Given the description of an element on the screen output the (x, y) to click on. 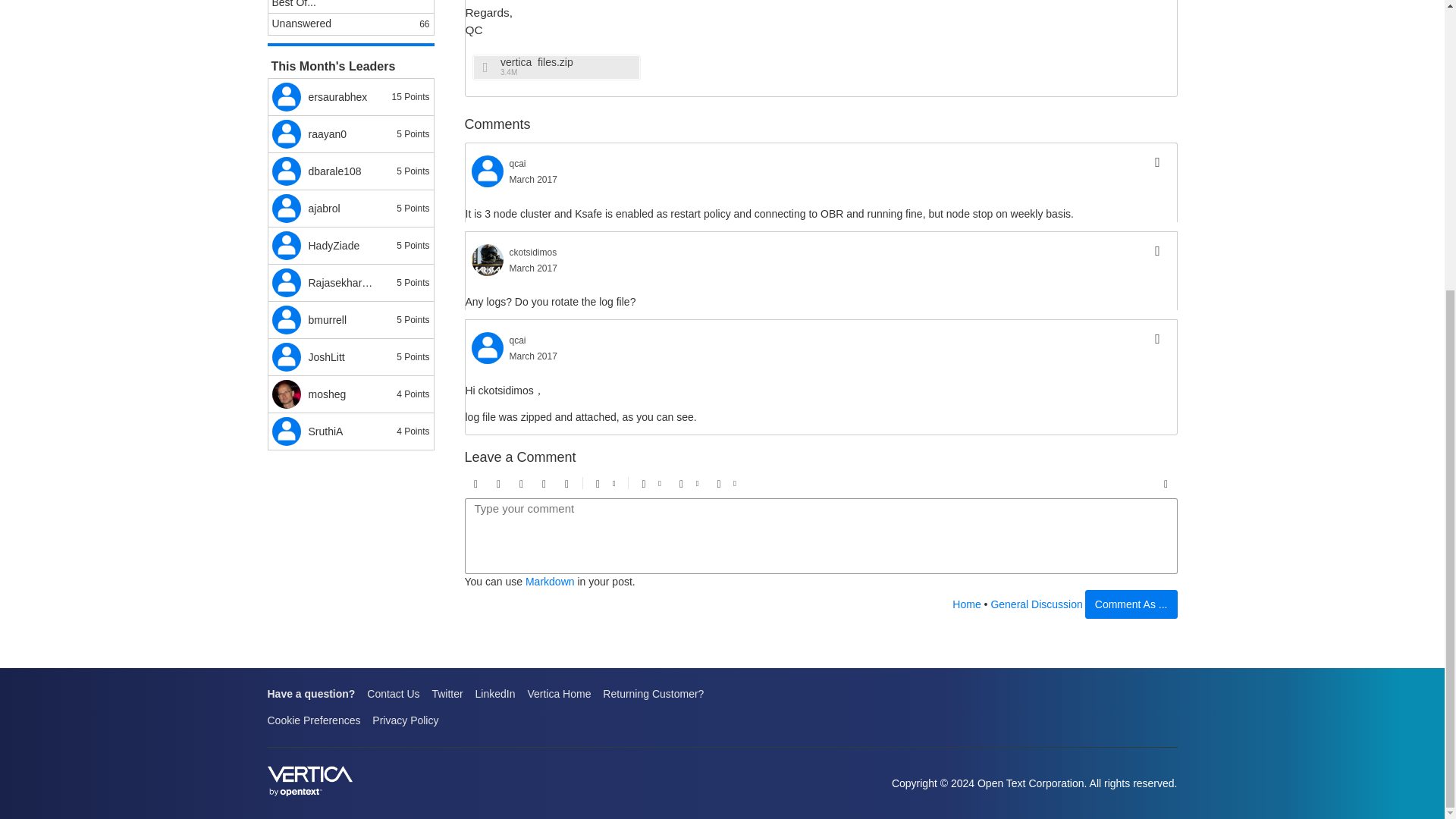
March 2017 (533, 179)
March 27, 2017 4:49AM (533, 356)
qcai (517, 340)
qcai (487, 171)
Italic (498, 484)
qcai (487, 347)
qcai (517, 163)
March 2017 (533, 356)
March 24, 2017 12:27PM (533, 267)
ckotsidimos (533, 252)
ckotsidimos (487, 260)
March 2017 (533, 267)
March 24, 2017 9:44AM (533, 179)
Bold (475, 484)
